Given the description of an element on the screen output the (x, y) to click on. 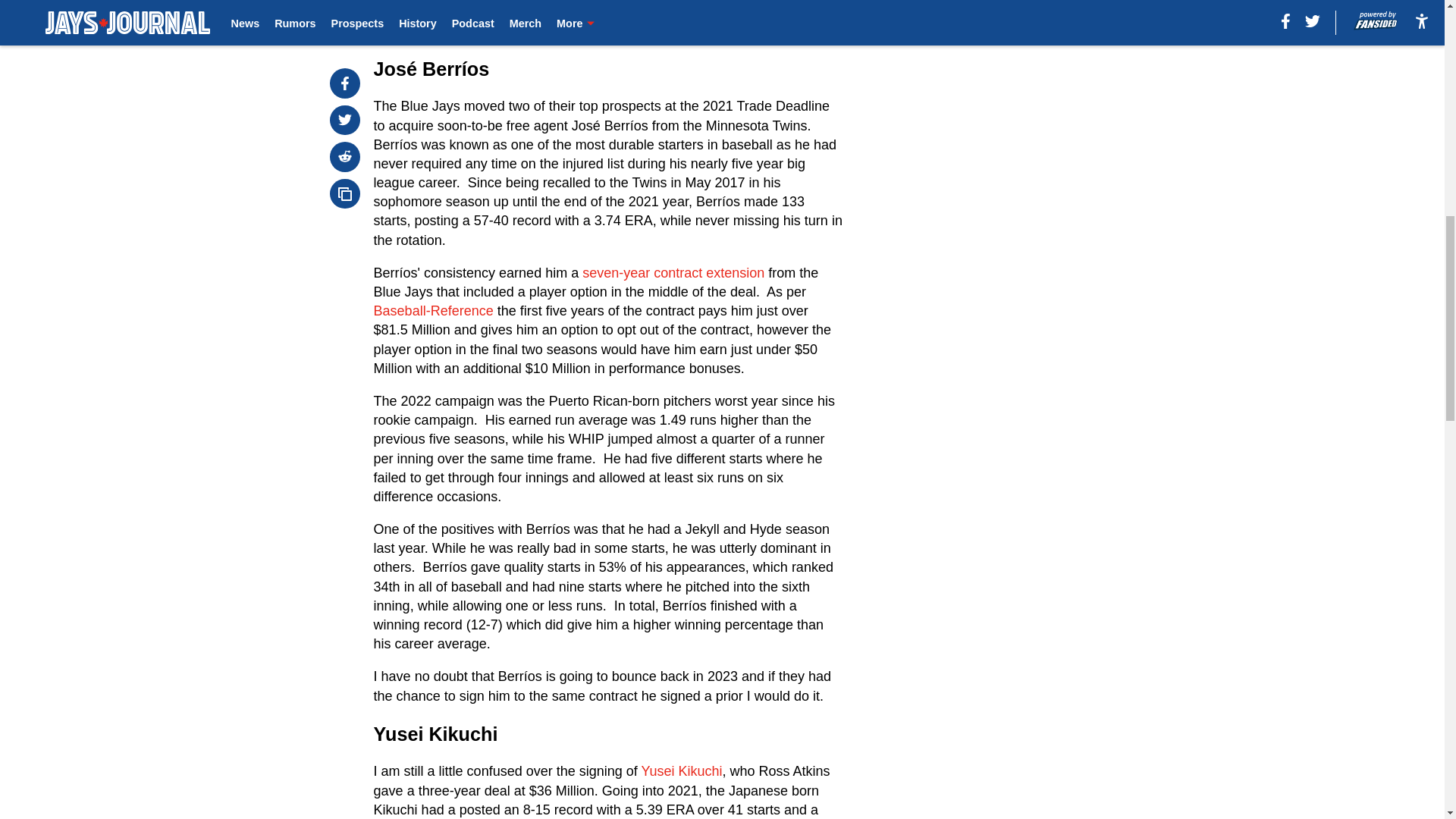
seven-year contract extension (673, 272)
Yusei Kikuchi (681, 770)
Baseball-Reference (433, 310)
